Given the description of an element on the screen output the (x, y) to click on. 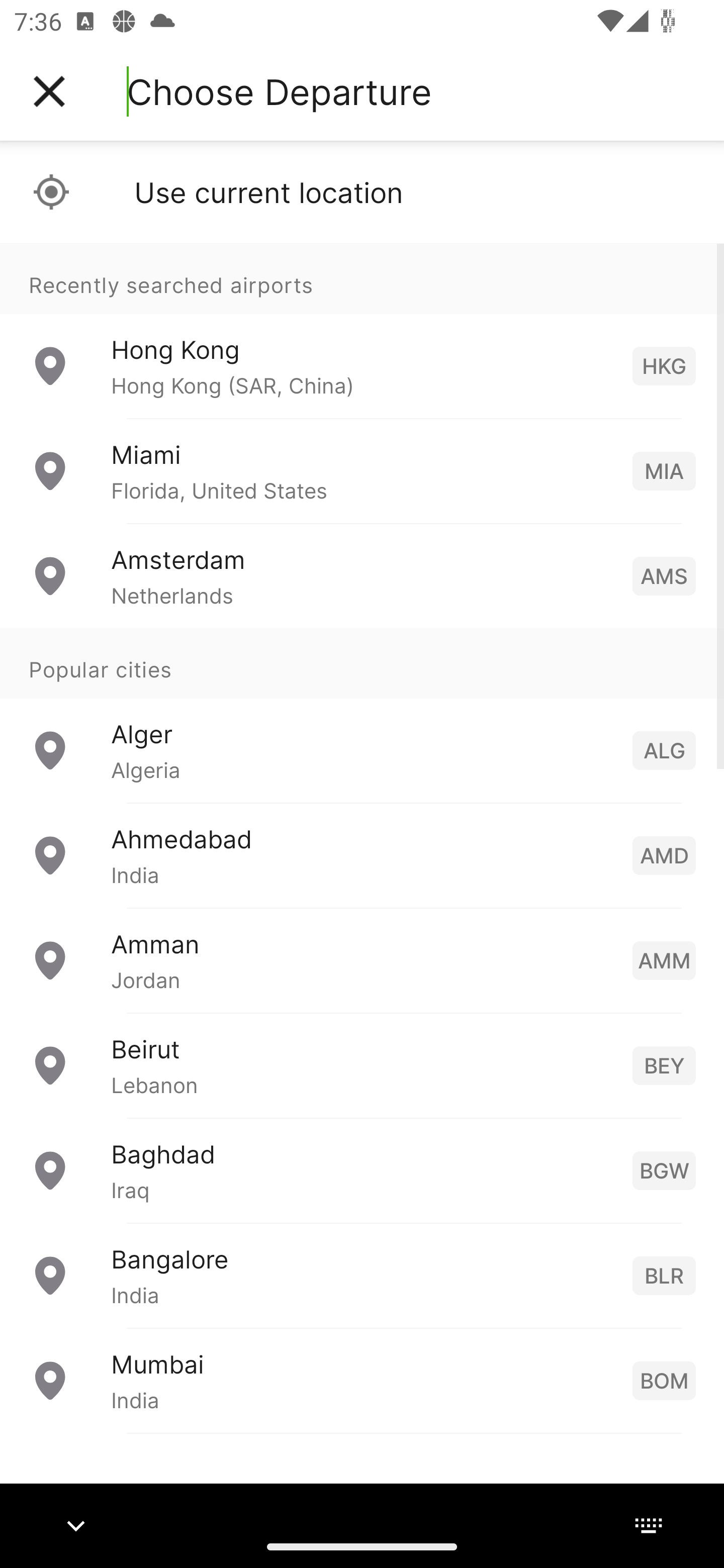
Choose Departure (279, 91)
Use current location (362, 192)
Recently searched airports (362, 278)
Miami Florida, United States MIA (362, 470)
Amsterdam Netherlands AMS (362, 575)
Popular cities Alger Algeria ALG (362, 715)
Popular cities (362, 663)
Ahmedabad India AMD (362, 854)
Amman Jordan AMM (362, 959)
Beirut Lebanon BEY (362, 1064)
Baghdad Iraq BGW (362, 1170)
Bangalore India BLR (362, 1275)
Mumbai India BOM (362, 1380)
